Given the description of an element on the screen output the (x, y) to click on. 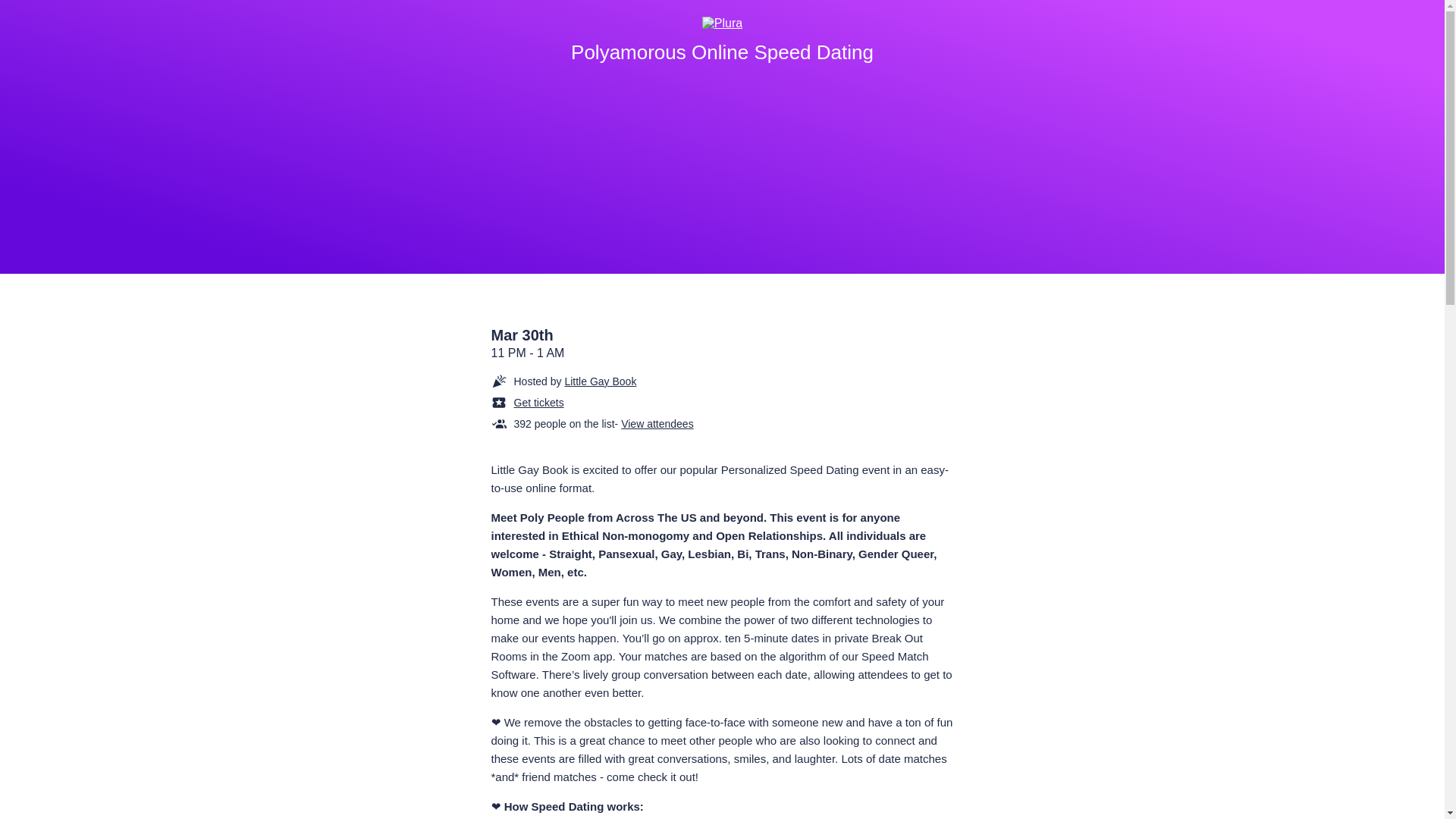
View attendees in the Plura app (657, 423)
Tickets (643, 402)
Little Gay Book (600, 381)
Organization (643, 381)
Get tickets for Polyamorous Online Speed Dating (538, 402)
View attendees (657, 423)
Event date and time (722, 343)
Attendees (643, 423)
Get tickets (538, 402)
